Given the description of an element on the screen output the (x, y) to click on. 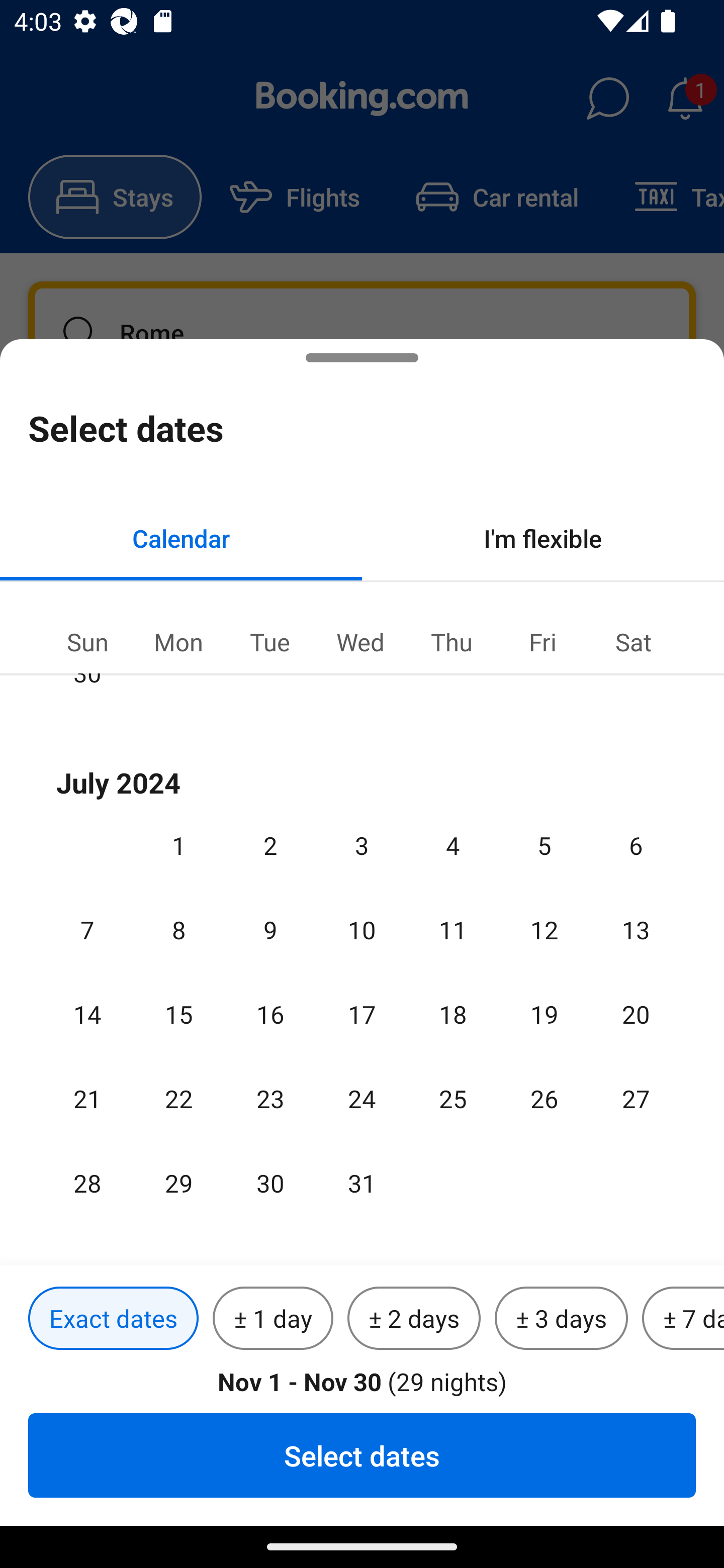
I'm flexible (543, 537)
Exact dates (113, 1318)
± 1 day (272, 1318)
± 2 days (413, 1318)
± 3 days (560, 1318)
± 7 days (683, 1318)
Select dates (361, 1454)
